Given the description of an element on the screen output the (x, y) to click on. 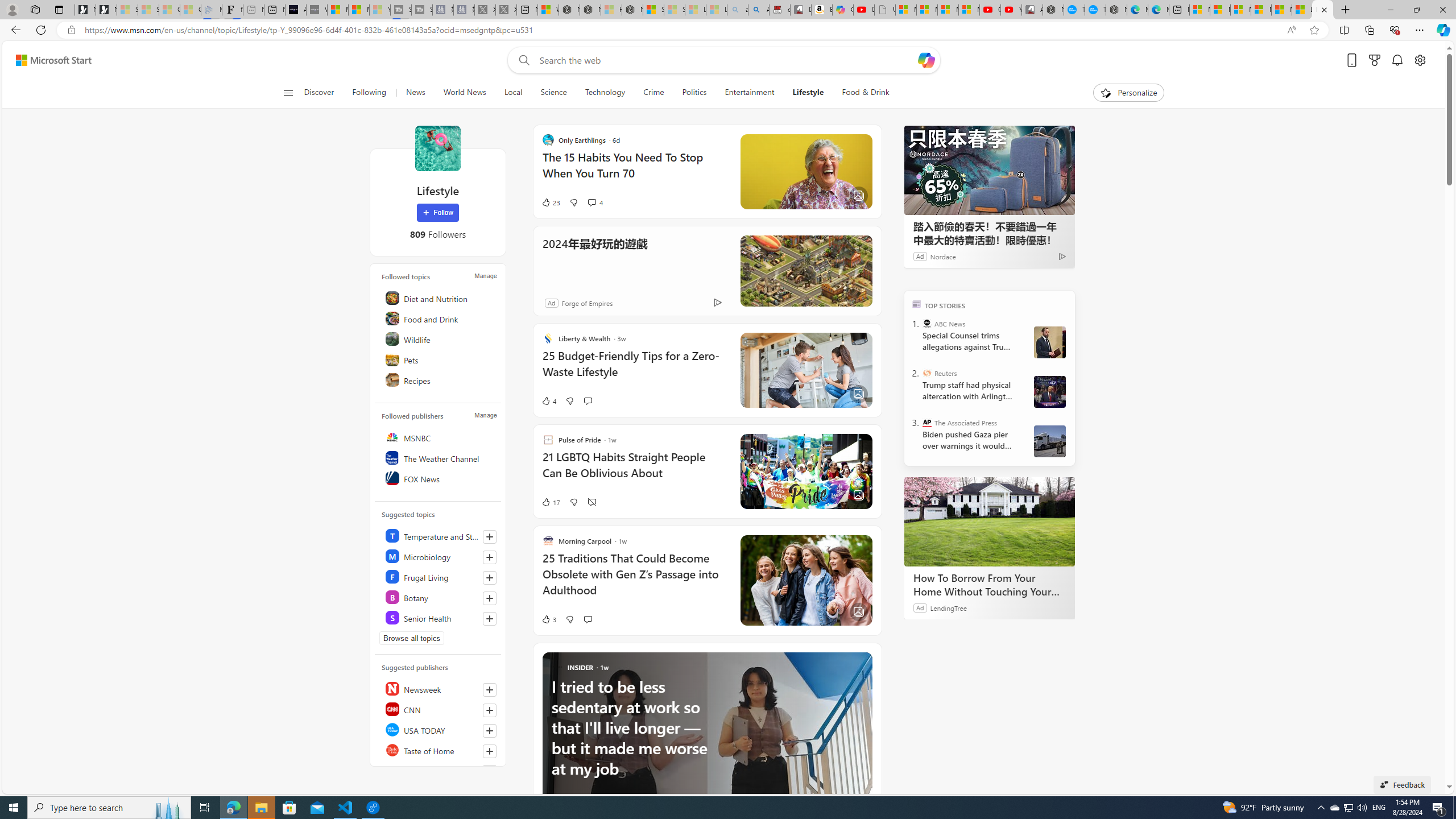
The Associated Press (927, 422)
Lifestyle (807, 92)
Food & Drink (860, 92)
Enter your search term (726, 59)
Follow this topic (489, 618)
Wildlife - MSN (547, 9)
All Cubot phones (1032, 9)
Untitled (884, 9)
See more (864, 660)
